Given the description of an element on the screen output the (x, y) to click on. 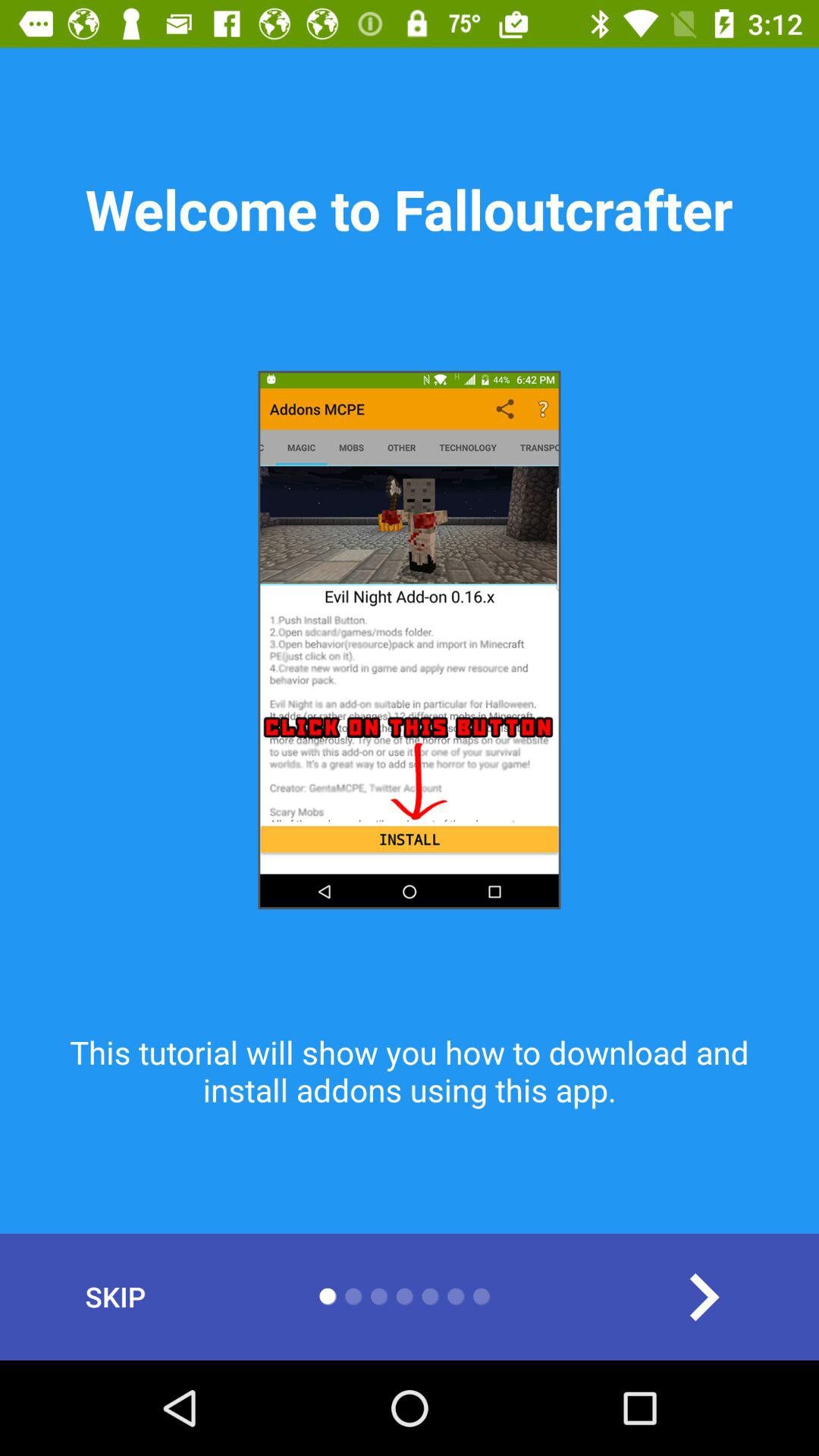
next screen (703, 1296)
